Given the description of an element on the screen output the (x, y) to click on. 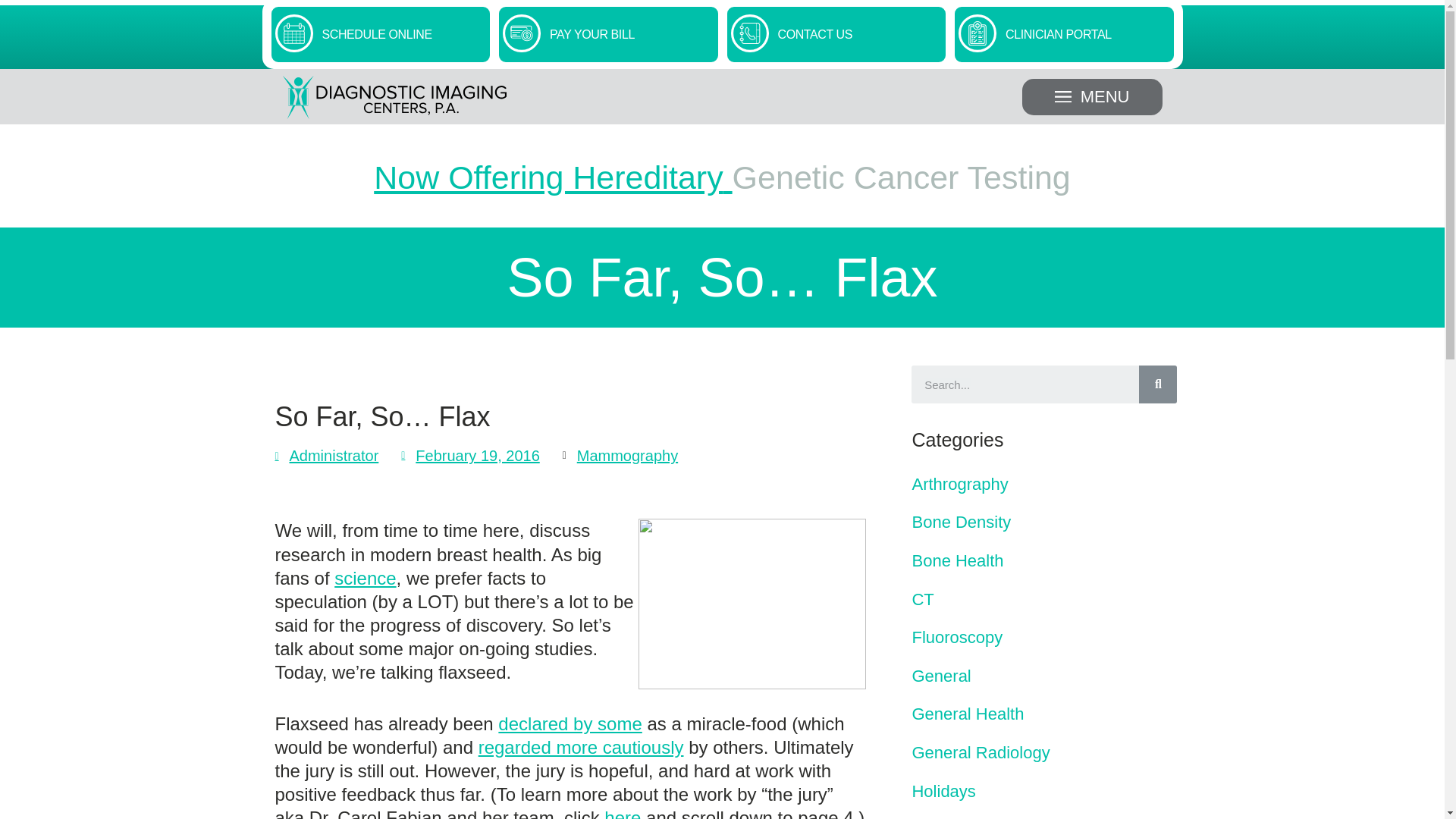
Search (1024, 384)
Search (1157, 384)
